Given the description of an element on the screen output the (x, y) to click on. 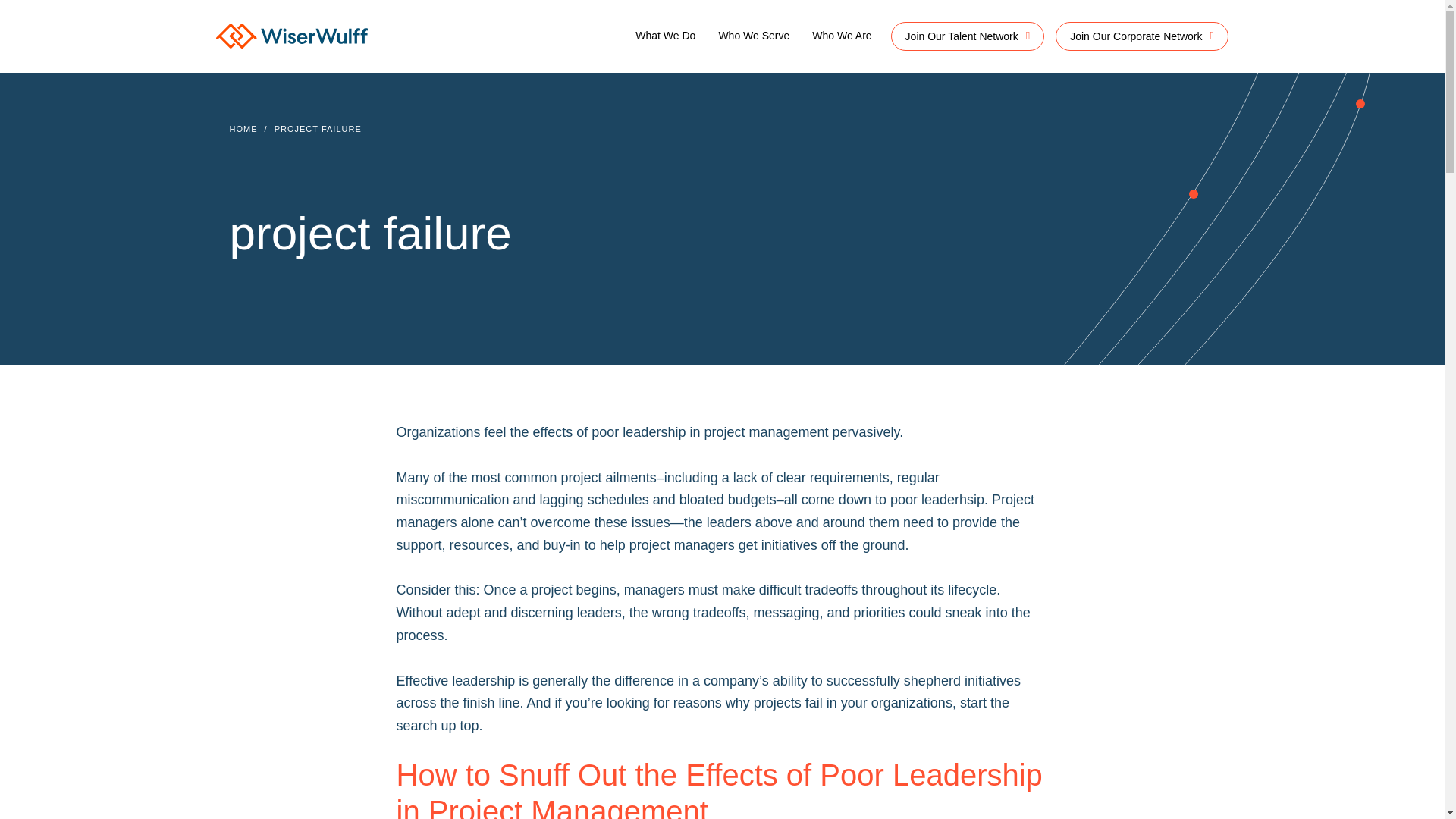
HOME (242, 128)
Join Our Talent Network (968, 36)
WiserWulff (291, 39)
Who We Serve (753, 36)
Join Our Corporate Network (1141, 36)
What We Do (665, 36)
Who We Are (841, 36)
